Given the description of an element on the screen output the (x, y) to click on. 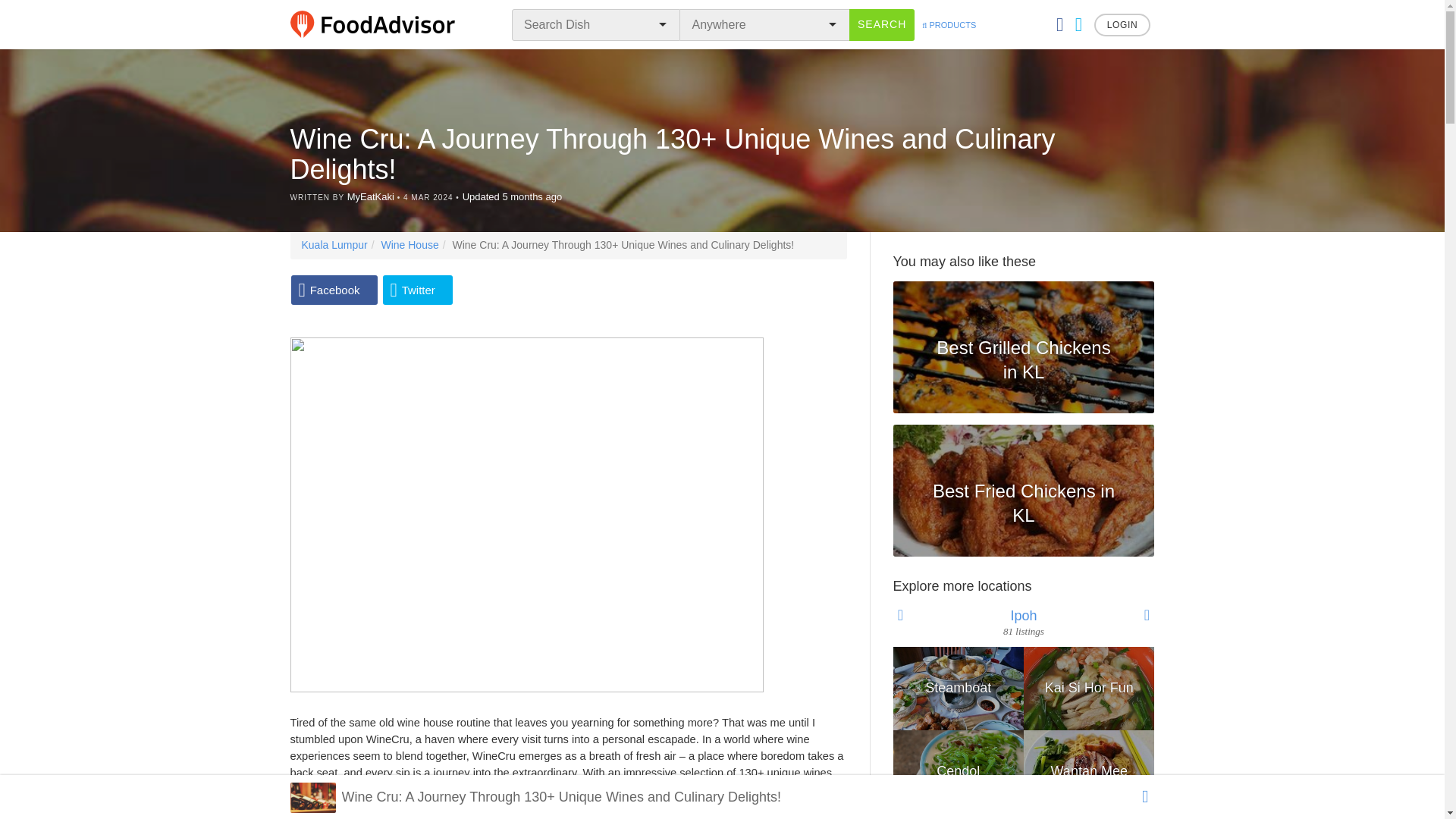
Lasagna (827, 772)
Cheese Naan (827, 688)
Wantan Mee (1088, 772)
Kuala Lumpur (334, 244)
Wine House (409, 244)
Foodadvisor.my (381, 24)
Kai Si Hor Fun (1088, 688)
MyEatKaki (370, 196)
Facebook (334, 289)
LOGIN (1122, 24)
Twitter (417, 289)
Share to Facebook (334, 289)
Cendol (959, 772)
SEARCH (881, 24)
PRODUCTS (948, 24)
